Given the description of an element on the screen output the (x, y) to click on. 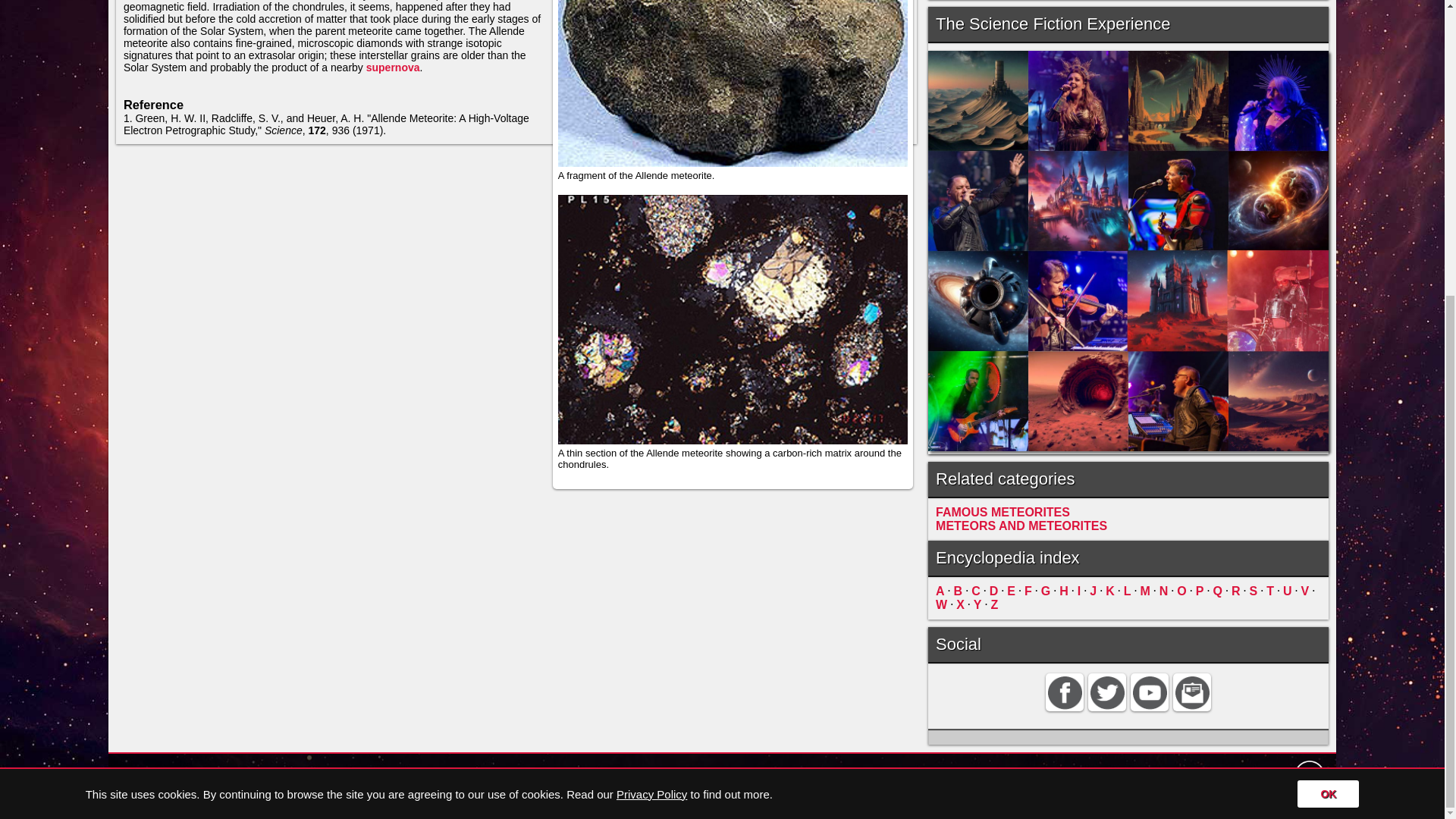
METEORS AND METEORITES (1021, 525)
supernova (393, 67)
FAMOUS METEORITES (1003, 512)
